Given the description of an element on the screen output the (x, y) to click on. 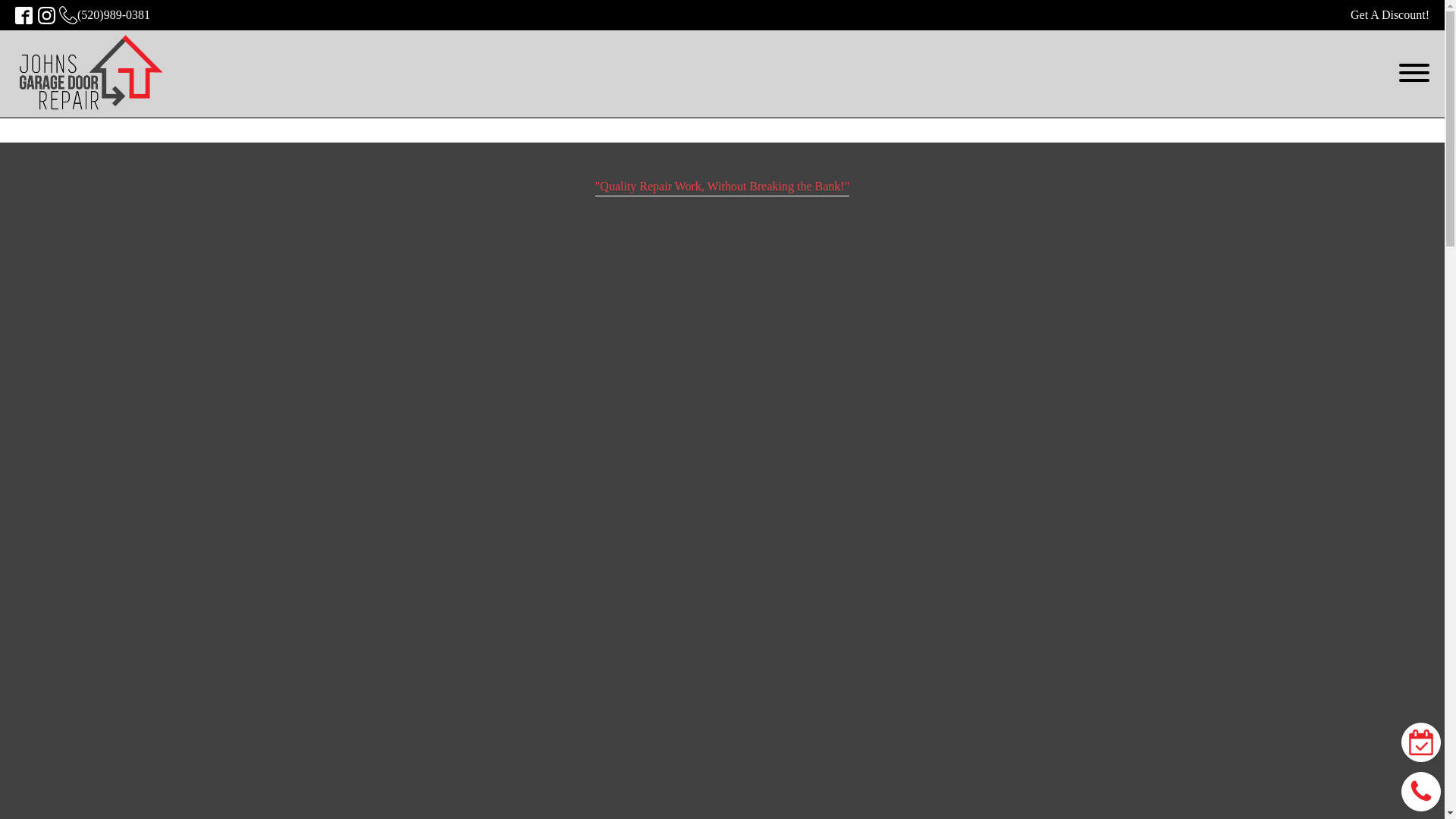
Get A Discount! (1390, 14)
